Given the description of an element on the screen output the (x, y) to click on. 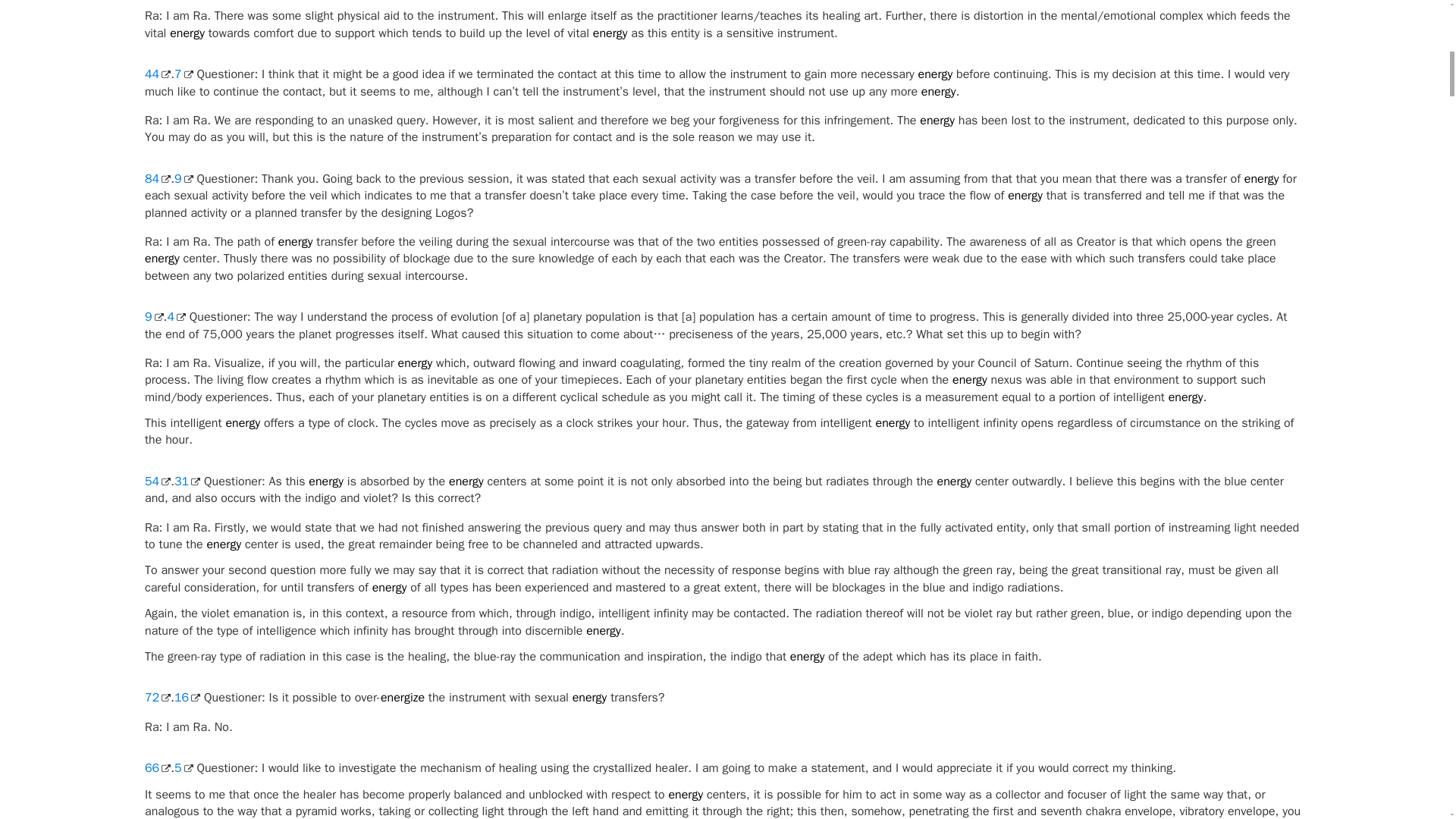
84 (157, 178)
9 (153, 316)
4 (176, 316)
7 (183, 73)
44 (157, 73)
9 (183, 178)
